Given the description of an element on the screen output the (x, y) to click on. 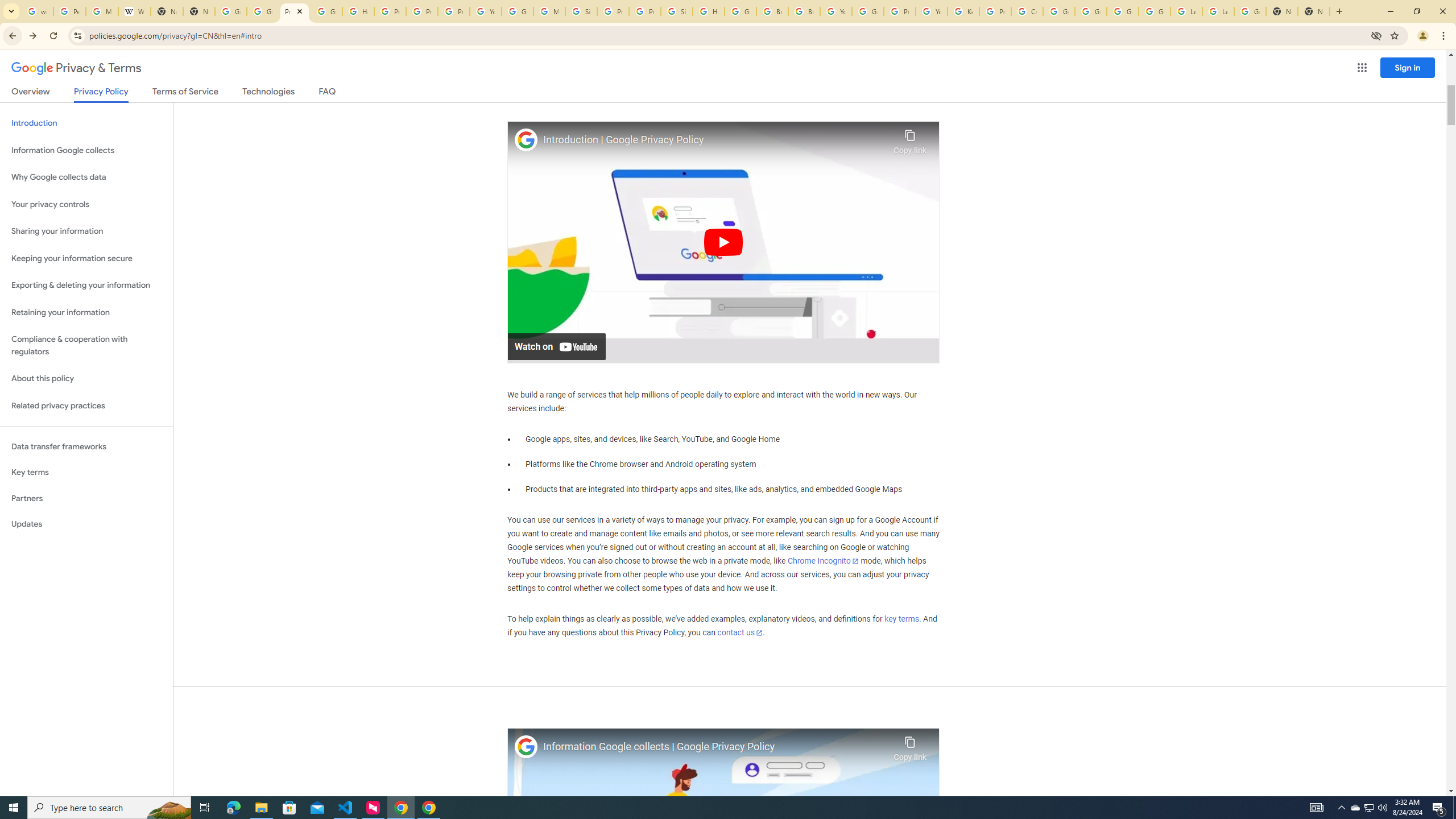
YouTube (485, 11)
Why Google collects data (86, 176)
Play (723, 241)
Google Account Help (1123, 11)
Google Drive: Sign-in (262, 11)
Introduction (86, 122)
Partners (86, 497)
